Given the description of an element on the screen output the (x, y) to click on. 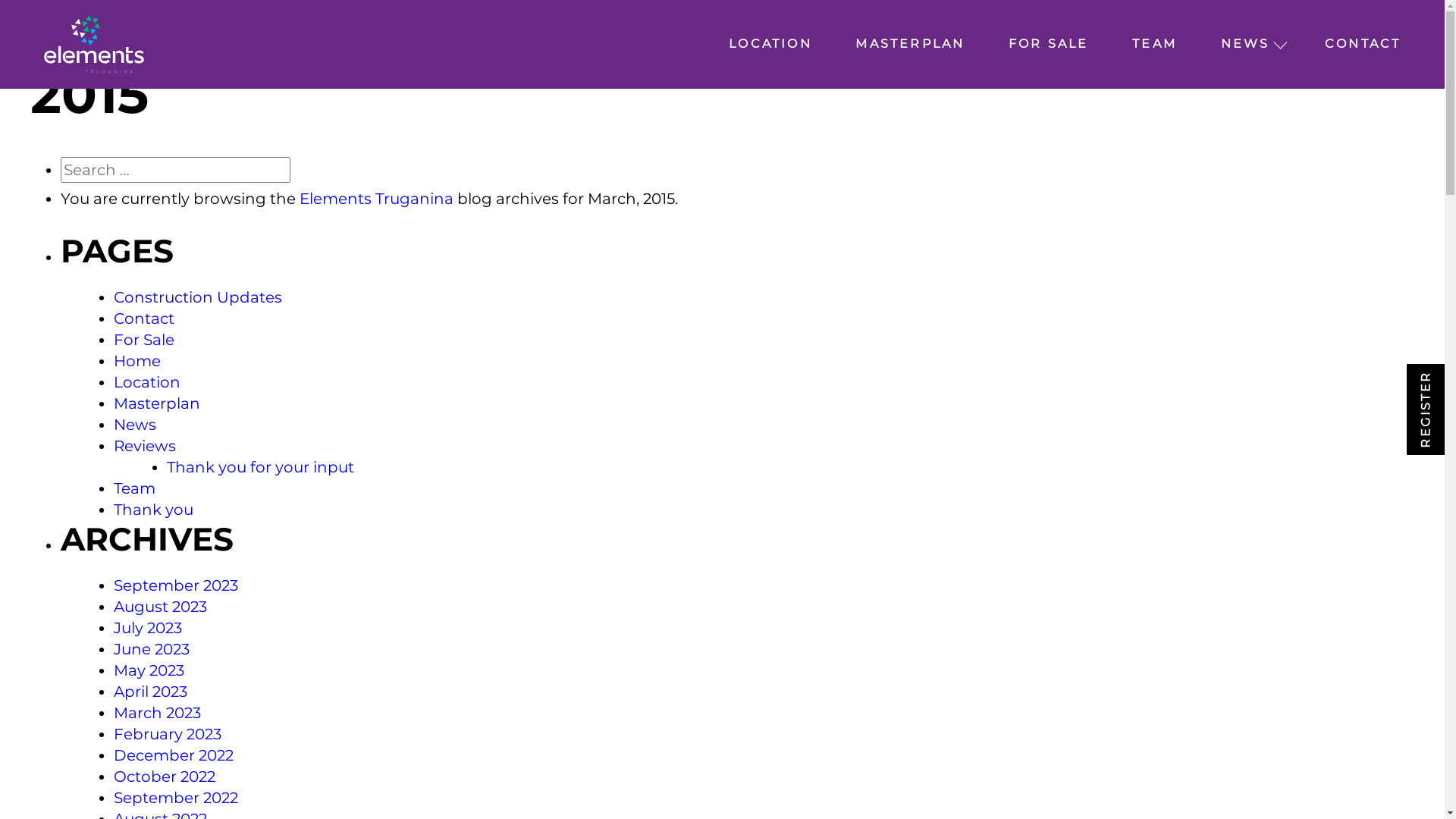
Location Element type: text (146, 382)
September 2022 Element type: text (175, 797)
February 2023 Element type: text (167, 733)
FOR SALE Element type: text (1048, 43)
March 2023 Element type: text (156, 712)
September 2023 Element type: text (175, 585)
NEWS Element type: text (1245, 43)
December 2022 Element type: text (173, 755)
October 2022 Element type: text (164, 776)
Contact Element type: text (143, 318)
Team Element type: text (134, 488)
June 2023 Element type: text (151, 649)
Masterplan Element type: text (156, 403)
Thank you Element type: text (153, 509)
CONTACT Element type: text (1362, 43)
LOCATION Element type: text (770, 43)
For Sale Element type: text (143, 339)
April 2023 Element type: text (150, 691)
TEAM Element type: text (1154, 43)
Elements Truganina Element type: text (376, 198)
Thank you for your input Element type: text (260, 467)
August 2023 Element type: text (160, 606)
News Element type: text (134, 424)
May 2023 Element type: text (148, 670)
MASTERPLAN Element type: text (909, 43)
Home Element type: text (136, 360)
Search Element type: text (343, 169)
July 2023 Element type: text (147, 627)
Construction Updates Element type: text (197, 297)
Reviews Element type: text (144, 445)
